Given the description of an element on the screen output the (x, y) to click on. 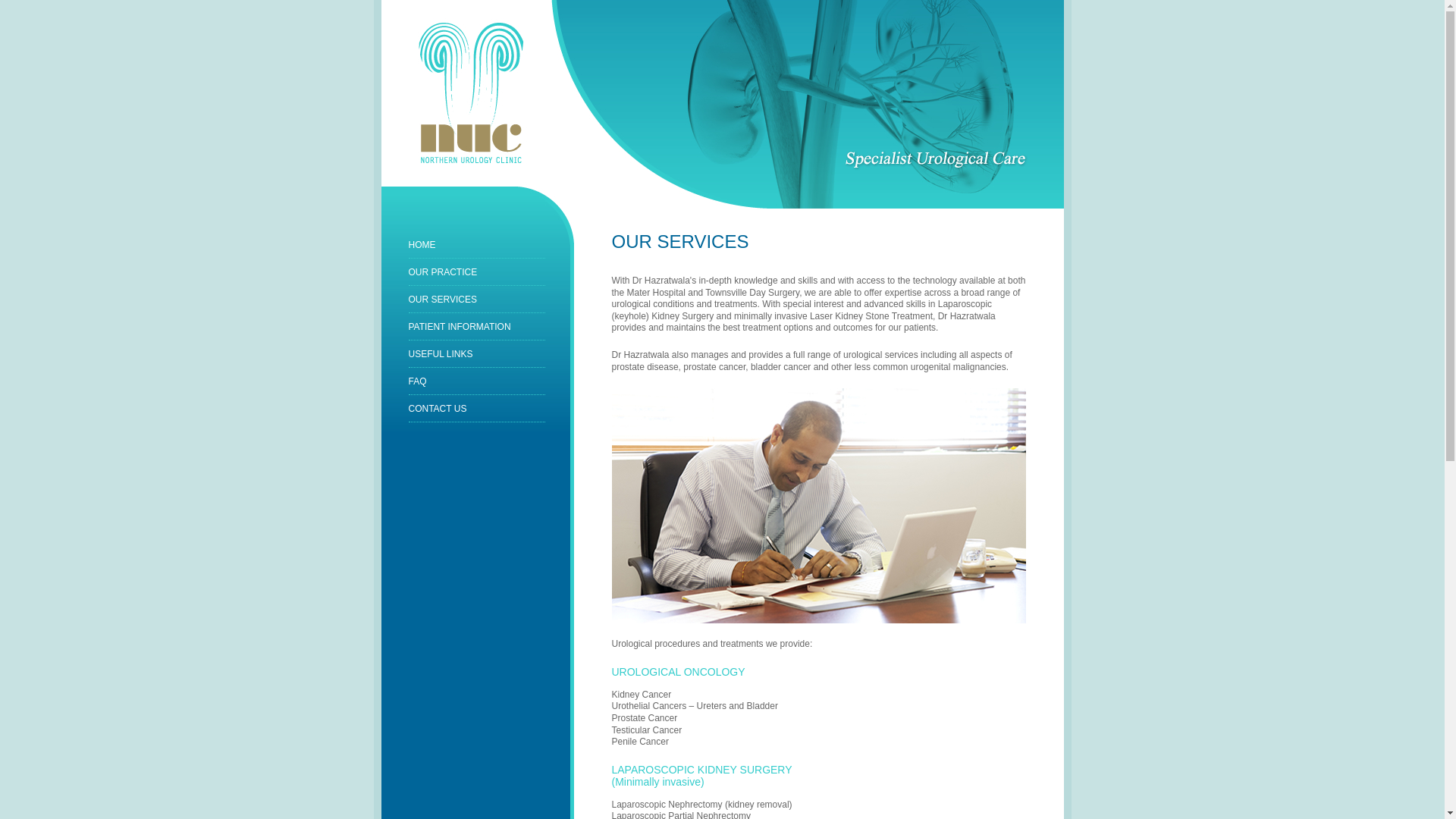
PATIENT INFORMATION Element type: text (458, 326)
OUR PRACTICE Element type: text (441, 271)
USEFUL LINKS Element type: text (439, 353)
CONTACT US Element type: text (436, 408)
OUR SERVICES Element type: text (441, 299)
HOME Element type: text (421, 244)
FAQ Element type: text (416, 381)
